Given the description of an element on the screen output the (x, y) to click on. 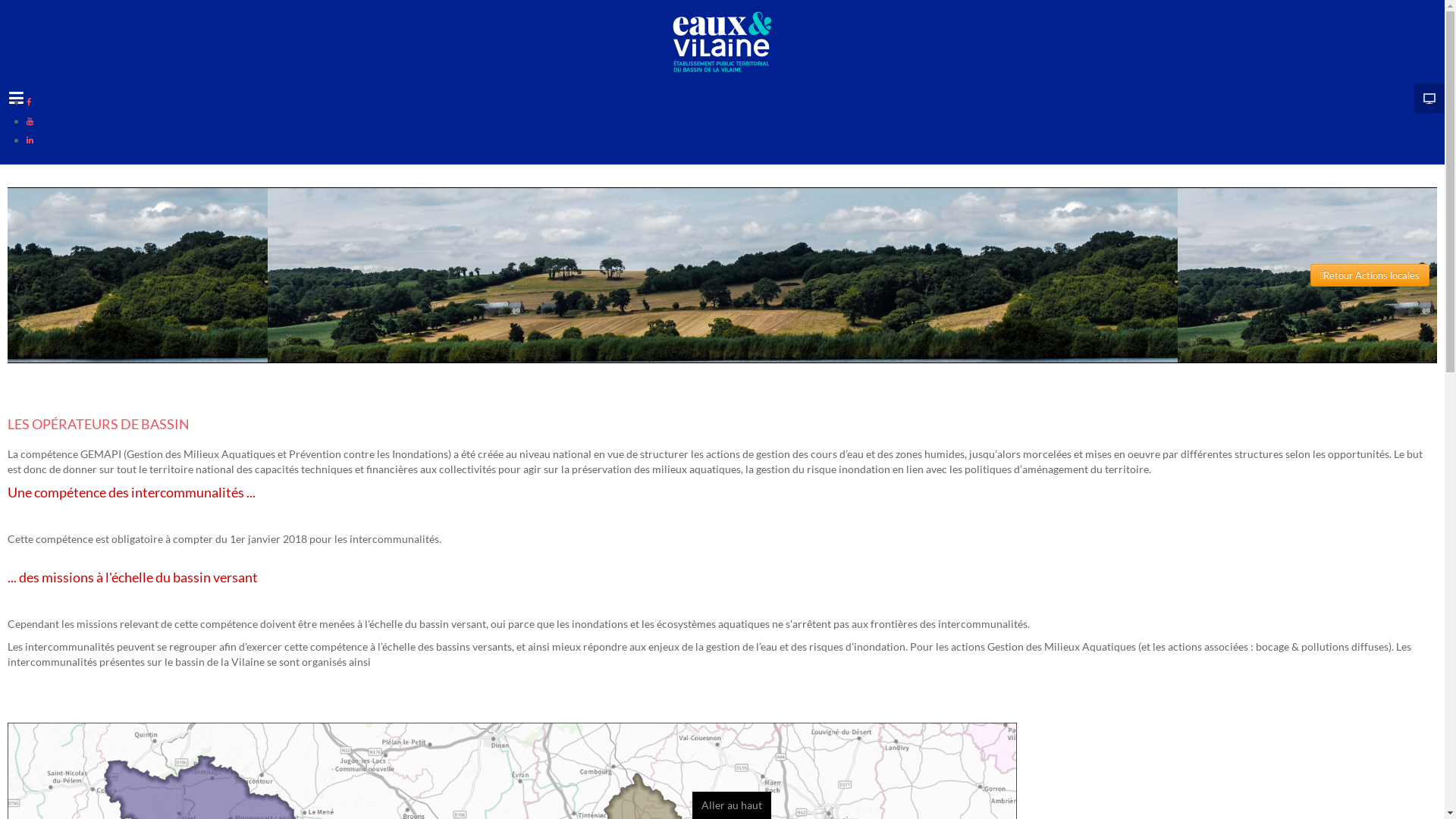
Retour Actions locales Element type: text (1370, 274)
EAUX & VILAINE Element type: hover (721, 41)
